Given the description of an element on the screen output the (x, y) to click on. 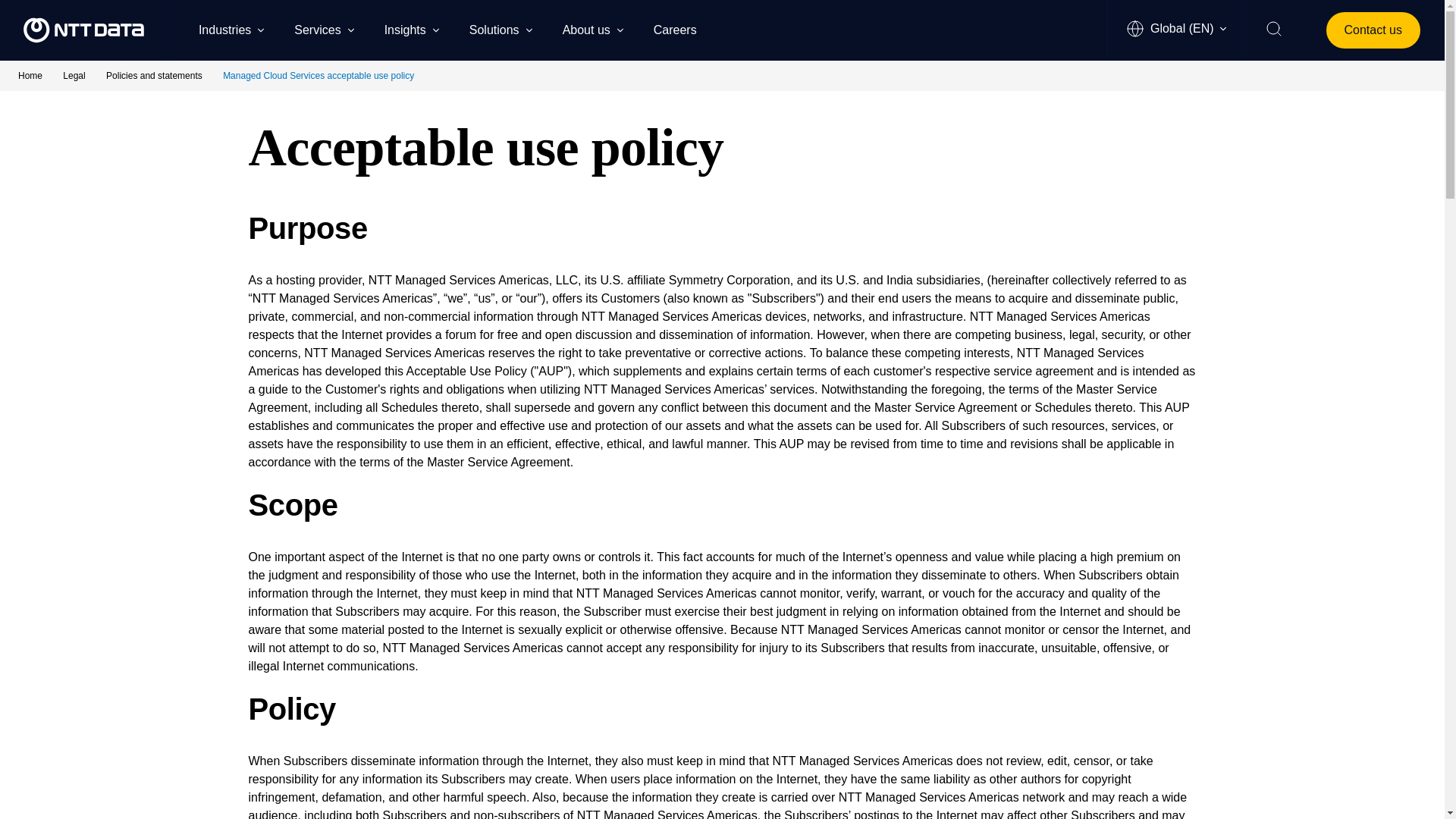
Services (323, 29)
Careers (681, 29)
Insights (411, 29)
Legal (74, 75)
Solutions (500, 29)
Policies and statements (155, 75)
Contact us (1373, 30)
Industries (230, 29)
Home (31, 75)
About us (592, 29)
